Given the description of an element on the screen output the (x, y) to click on. 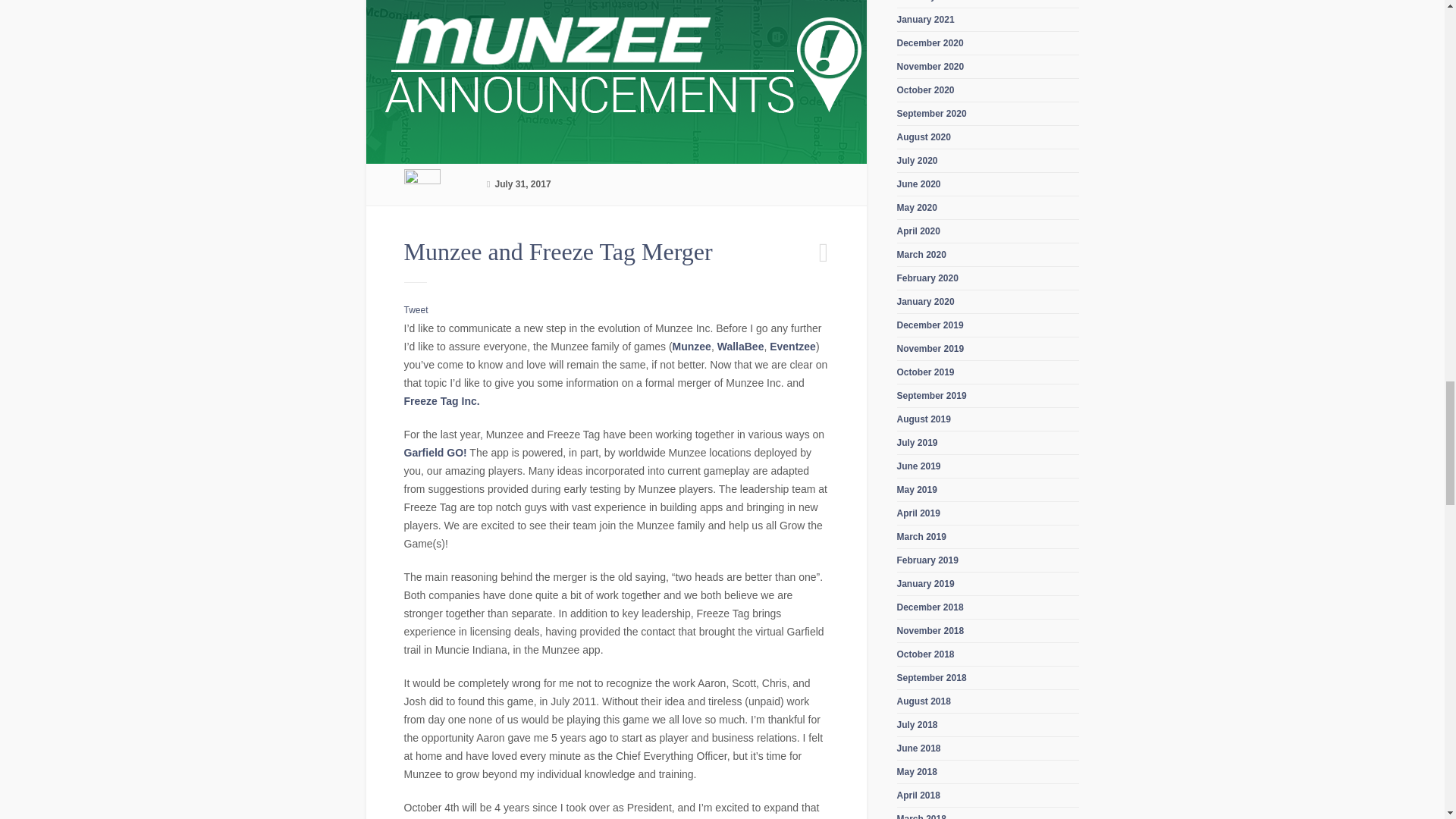
Eventzee (792, 346)
Freeze Tag Inc. (441, 400)
Permalink to Munzee and Freeze Tag Merger (557, 251)
Garfield GO! (434, 452)
Tweet (415, 309)
WallaBee (740, 346)
Munzee (691, 346)
Munzee and Freeze Tag Merger (557, 251)
